Given the description of an element on the screen output the (x, y) to click on. 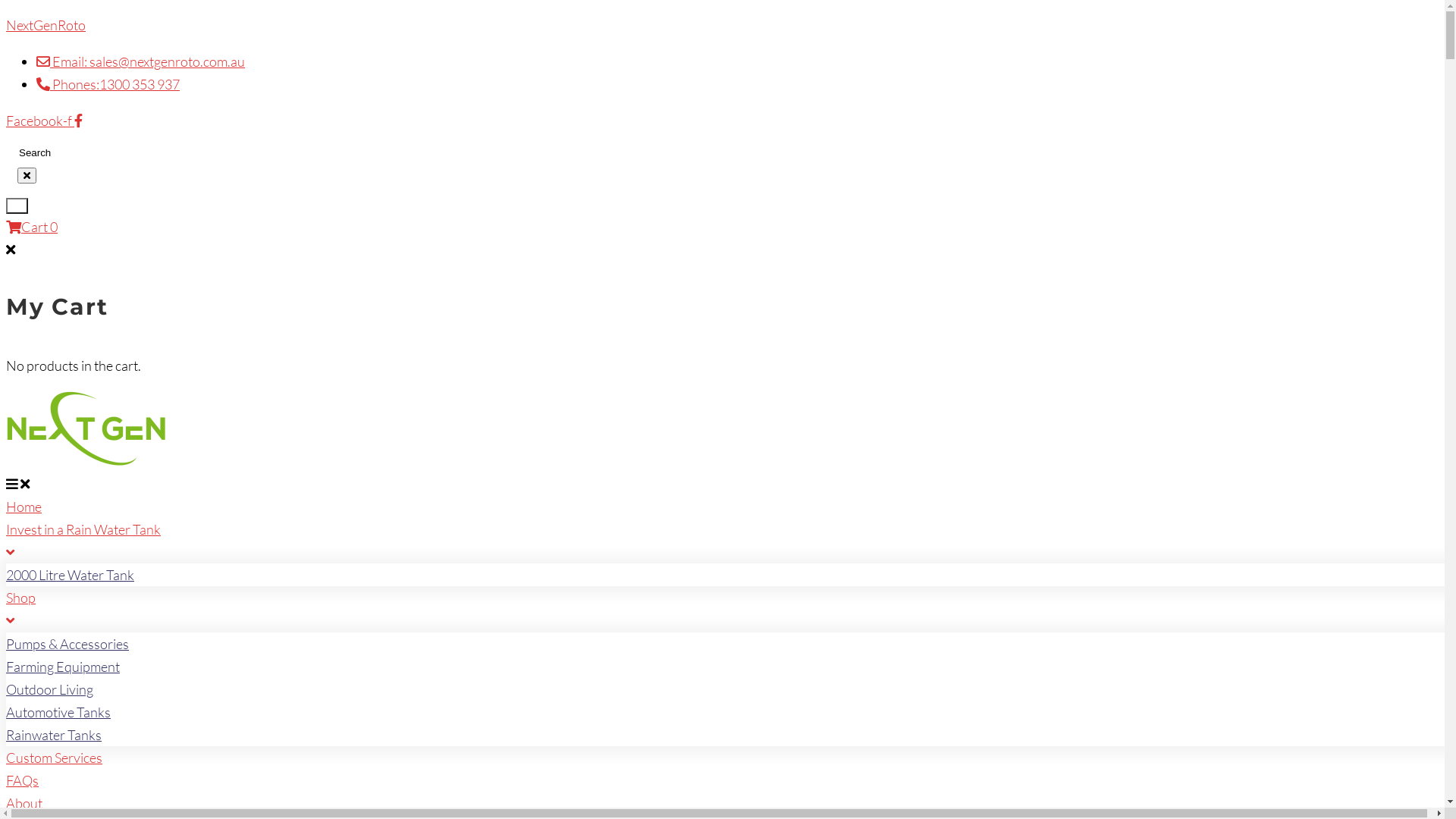
Invest in a Rain Water Tank Element type: text (728, 541)
Phones:1300 353 937 Element type: text (107, 83)
Automotive Tanks Element type: text (58, 711)
2000 Litre Water Tank Element type: text (70, 574)
Outdoor Living Element type: text (49, 688)
Cart 0 Element type: text (31, 226)
Custom Services Element type: text (54, 757)
Farming Equipment Element type: text (62, 666)
Facebook-f Element type: text (44, 120)
FAQs Element type: text (22, 779)
Home Element type: text (23, 506)
NextGenRoto Element type: text (45, 24)
Rainwater Tanks Element type: text (53, 734)
Pumps & Accessories Element type: text (67, 643)
Shop Element type: text (728, 610)
Email: sales@nextgenroto.com.au Element type: text (140, 61)
